Given the description of an element on the screen output the (x, y) to click on. 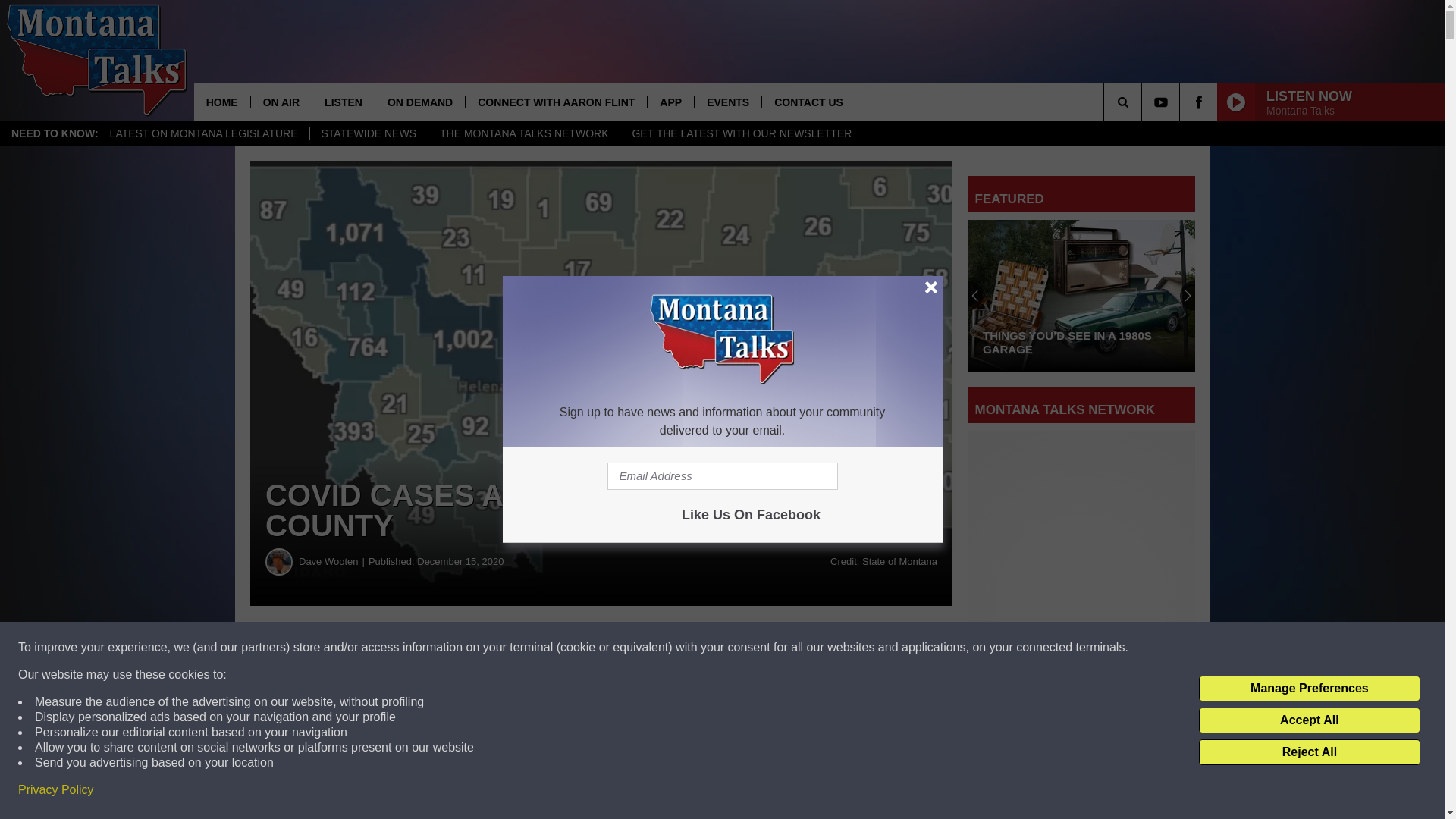
GET THE LATEST WITH OUR NEWSLETTER (741, 133)
THE MONTANA TALKS NETWORK (524, 133)
SEARCH (1144, 102)
Privacy Policy (55, 789)
HOME (221, 102)
EVENTS (727, 102)
LISTEN (342, 102)
Manage Preferences (1309, 688)
SEARCH (1144, 102)
ON DEMAND (419, 102)
APP (670, 102)
CONNECT WITH AARON FLINT (555, 102)
LATEST ON MONTANA LEGISLATURE (203, 133)
Share on Twitter (741, 647)
Reject All (1309, 751)
